Given the description of an element on the screen output the (x, y) to click on. 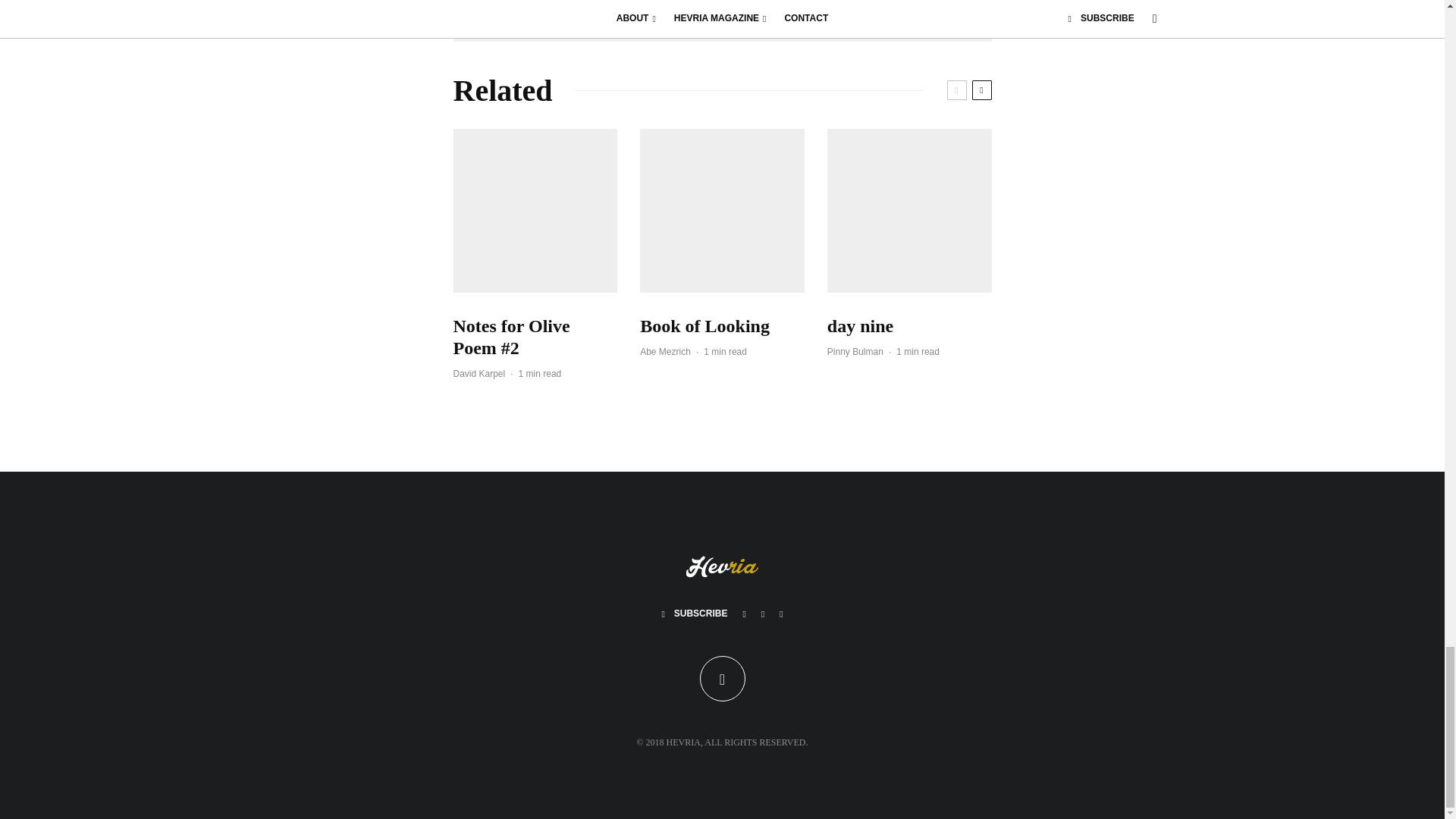
rachelkann.com (708, 2)
